Given the description of an element on the screen output the (x, y) to click on. 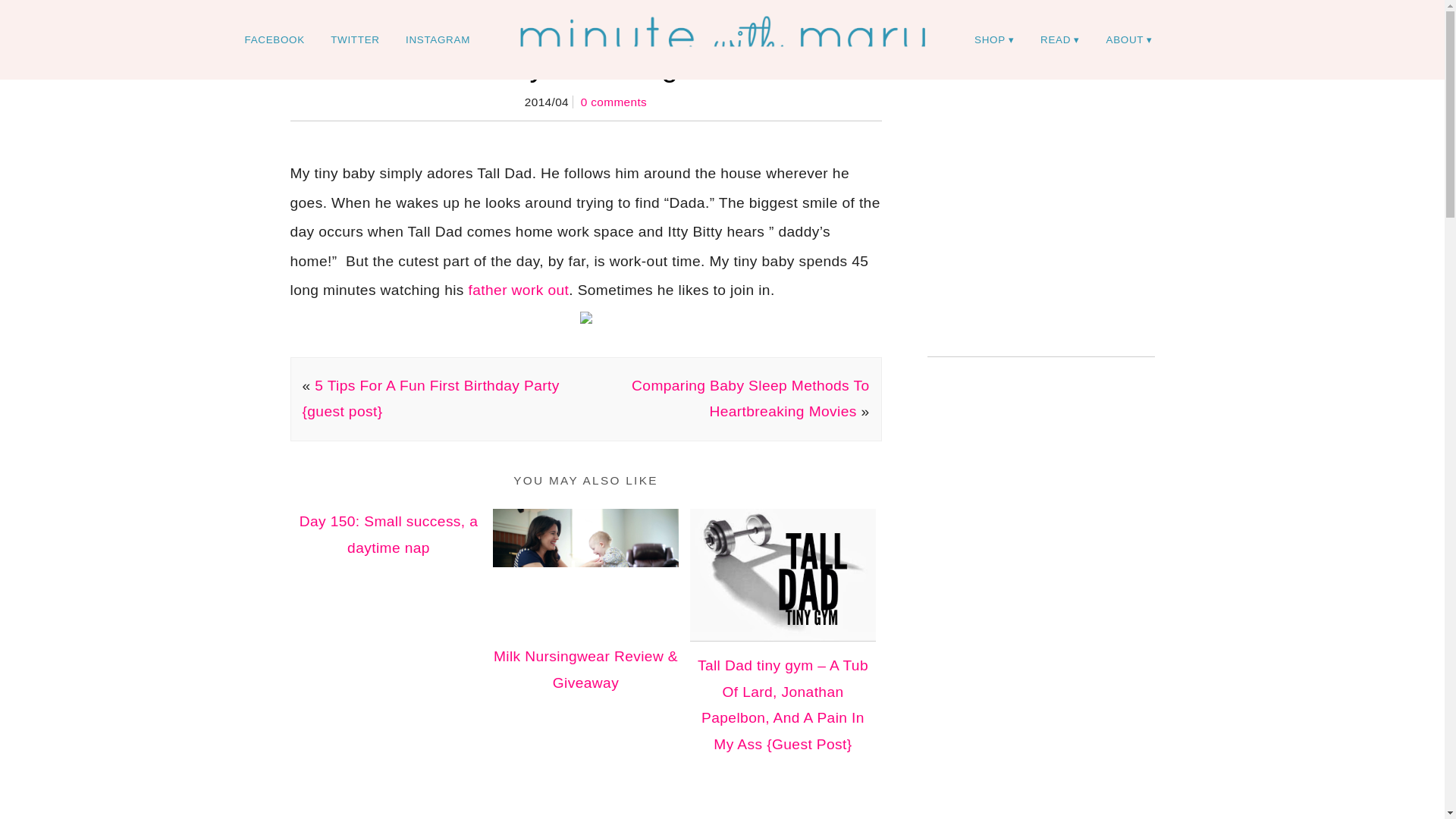
READ (1059, 39)
ABOUT (1129, 39)
Minute With Mary (721, 39)
SHOP (994, 39)
facebook (273, 39)
Baby P90x Yoga (585, 65)
INSTAGRAM (437, 39)
FACEBOOK (273, 39)
TWITTER (354, 39)
instagram (437, 39)
twitter (354, 39)
